Given the description of an element on the screen output the (x, y) to click on. 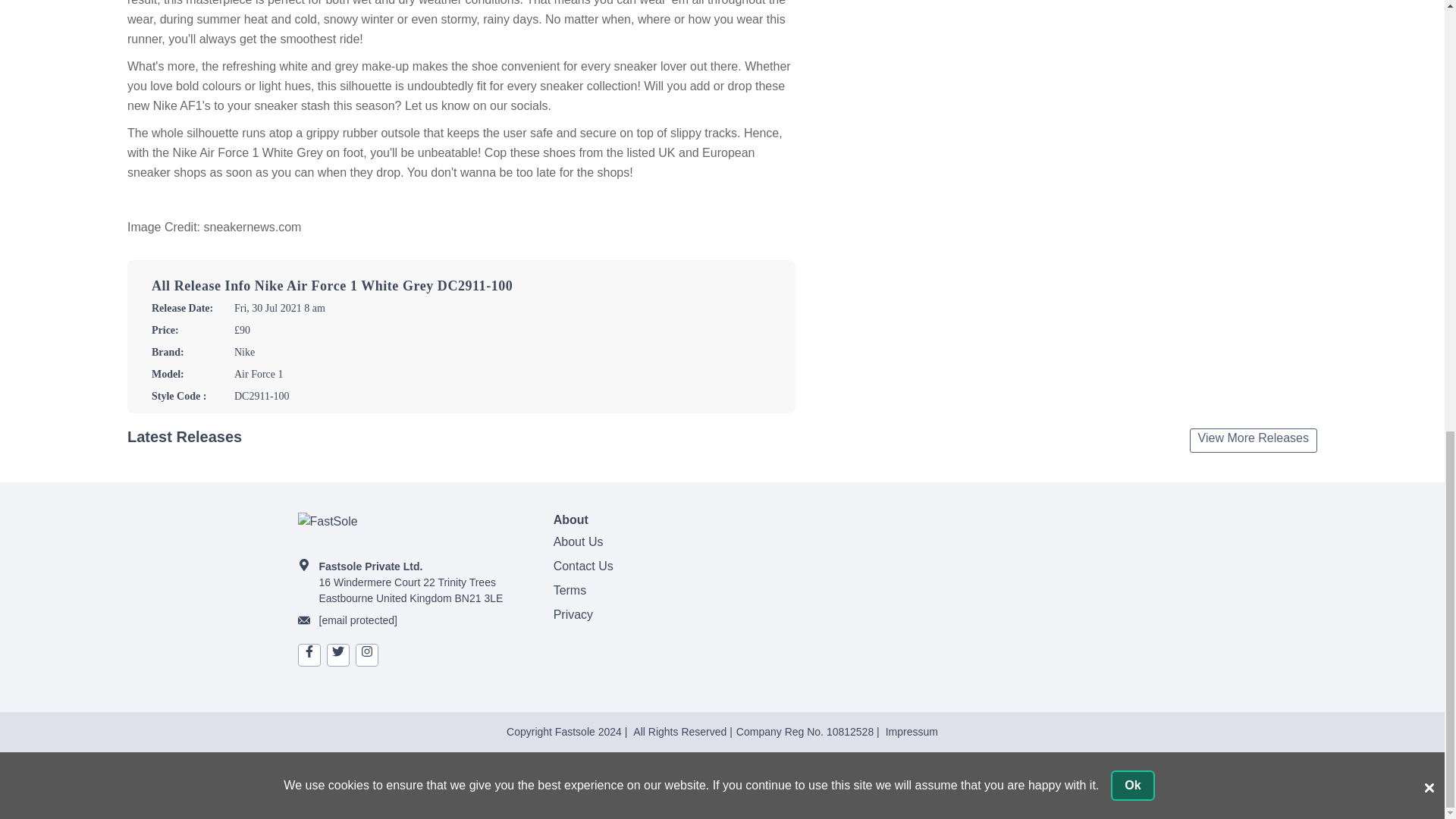
FastSole (412, 529)
